Given the description of an element on the screen output the (x, y) to click on. 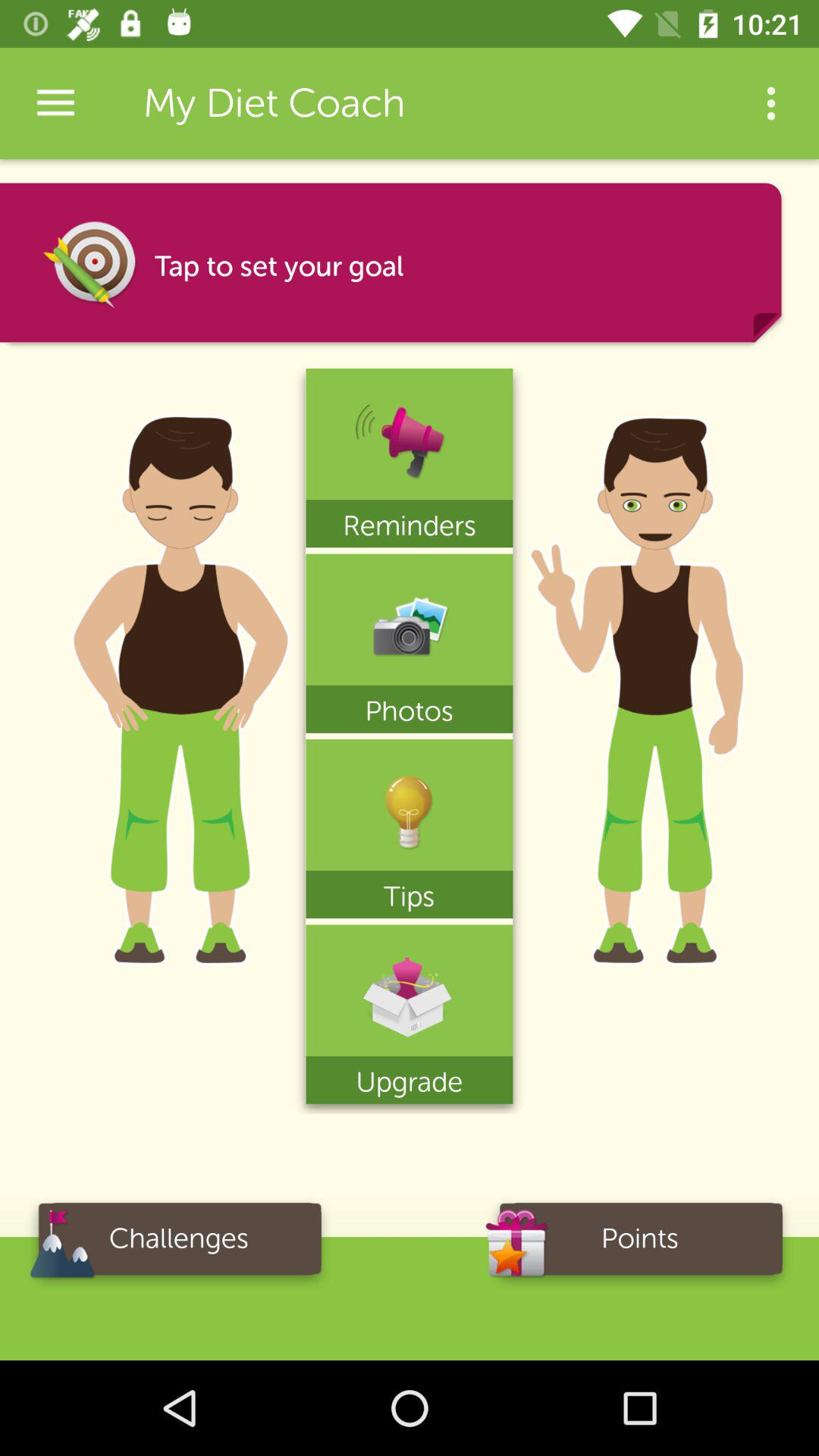
click points icon (639, 1243)
